Given the description of an element on the screen output the (x, y) to click on. 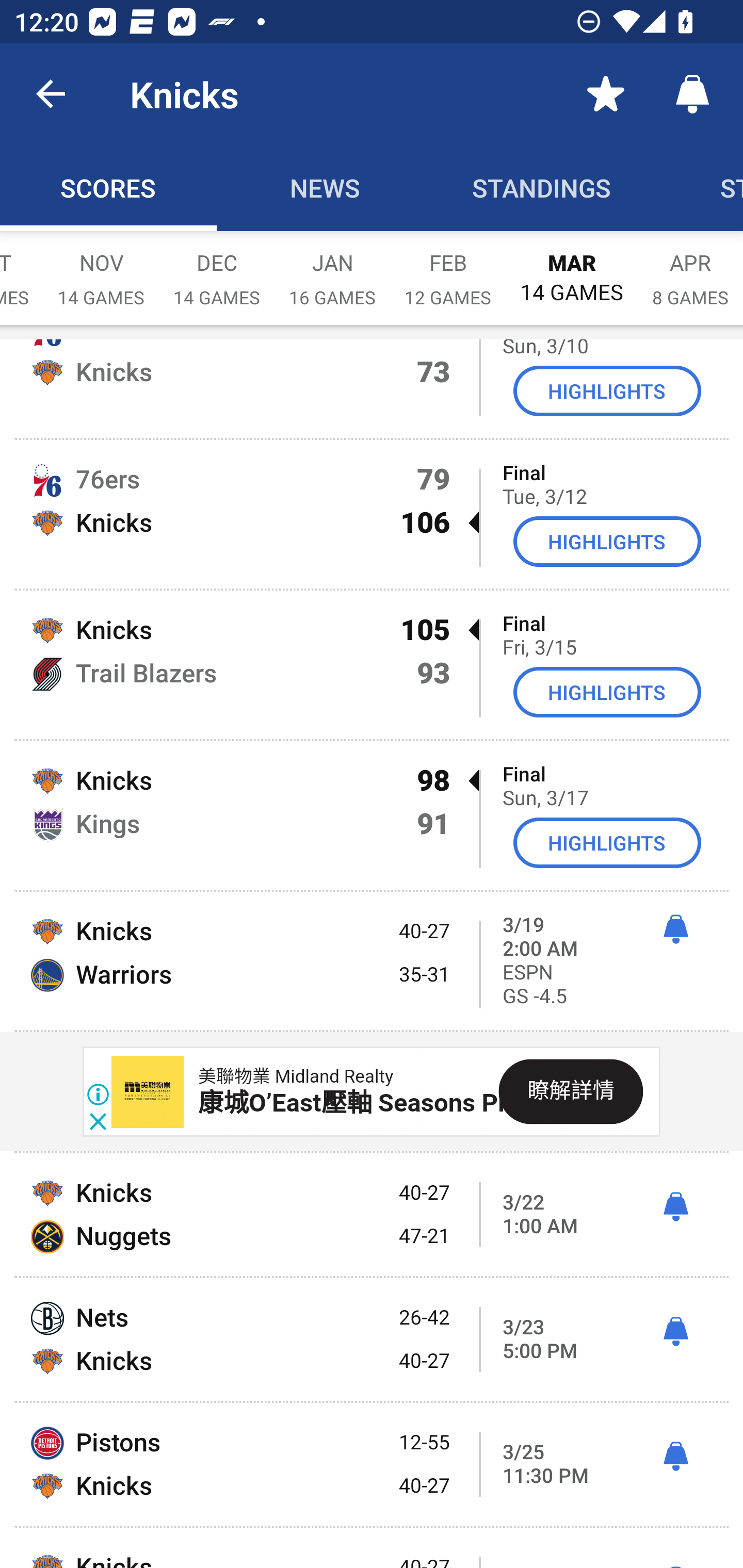
back.button (50, 93)
Favorite toggle (605, 93)
Alerts (692, 93)
News NEWS (324, 187)
Standings STANDINGS (541, 187)
NOV 14 GAMES (101, 268)
DEC 14 GAMES (216, 268)
JAN 16 GAMES (332, 268)
FEB 12 GAMES (447, 268)
MAR 14 GAMES (571, 267)
APR 8 GAMES (690, 268)
76ers 79  Knicks 73 Sun, 3/10 HIGHLIGHTS (371, 387)
HIGHLIGHTS (607, 390)
76ers 79 Knicks 106  Final Tue, 3/12 HIGHLIGHTS (371, 514)
HIGHLIGHTS (607, 541)
HIGHLIGHTS (607, 692)
Knicks 98  Kings 91 Final Sun, 3/17 HIGHLIGHTS (371, 815)
HIGHLIGHTS (607, 842)
ì (675, 929)
Knicks 40-27 Nuggets 47-21 3/22 1:00 AM ì (371, 1215)
ì (675, 1207)
Nets 26-42 Knicks 40-27 3/23 5:00 PM ì (371, 1338)
ì (675, 1331)
Pistons 12-55 Knicks 40-27 3/25 11:30 PM ì (371, 1464)
ì (675, 1456)
